Given the description of an element on the screen output the (x, y) to click on. 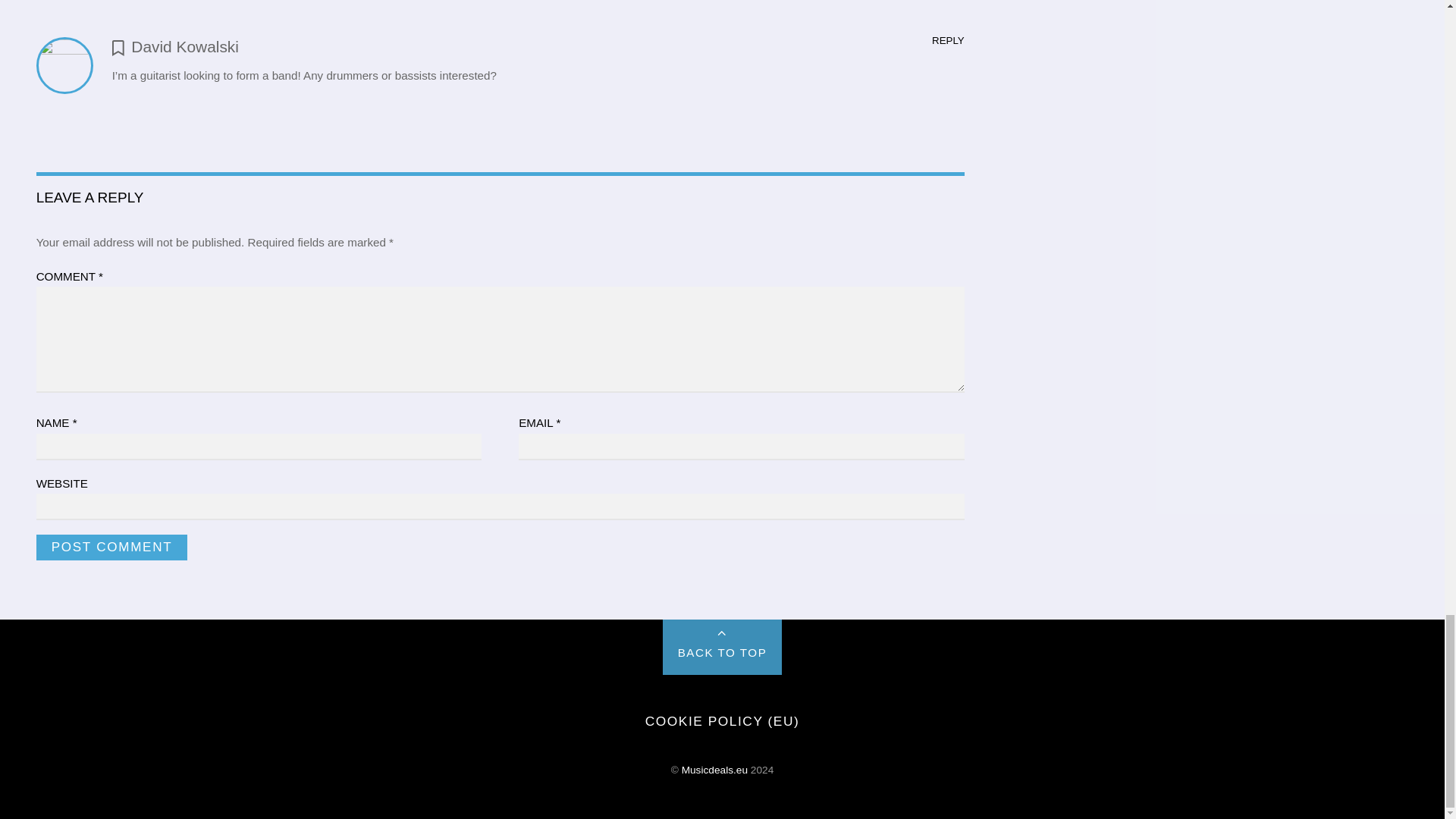
Post Comment (111, 547)
Post Comment (111, 547)
REPLY (947, 40)
